Given the description of an element on the screen output the (x, y) to click on. 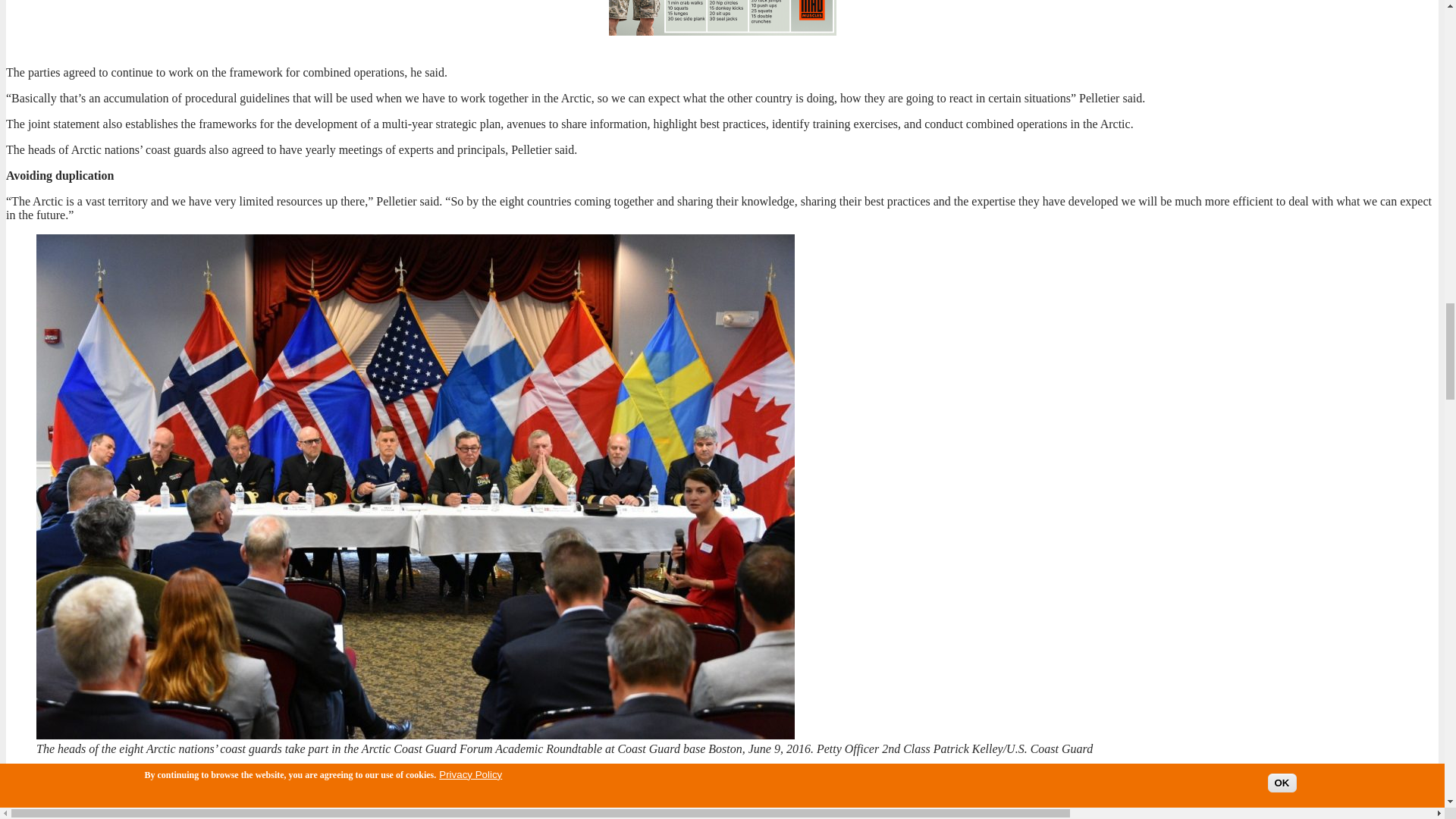
Advertisement (721, 18)
